Given the description of an element on the screen output the (x, y) to click on. 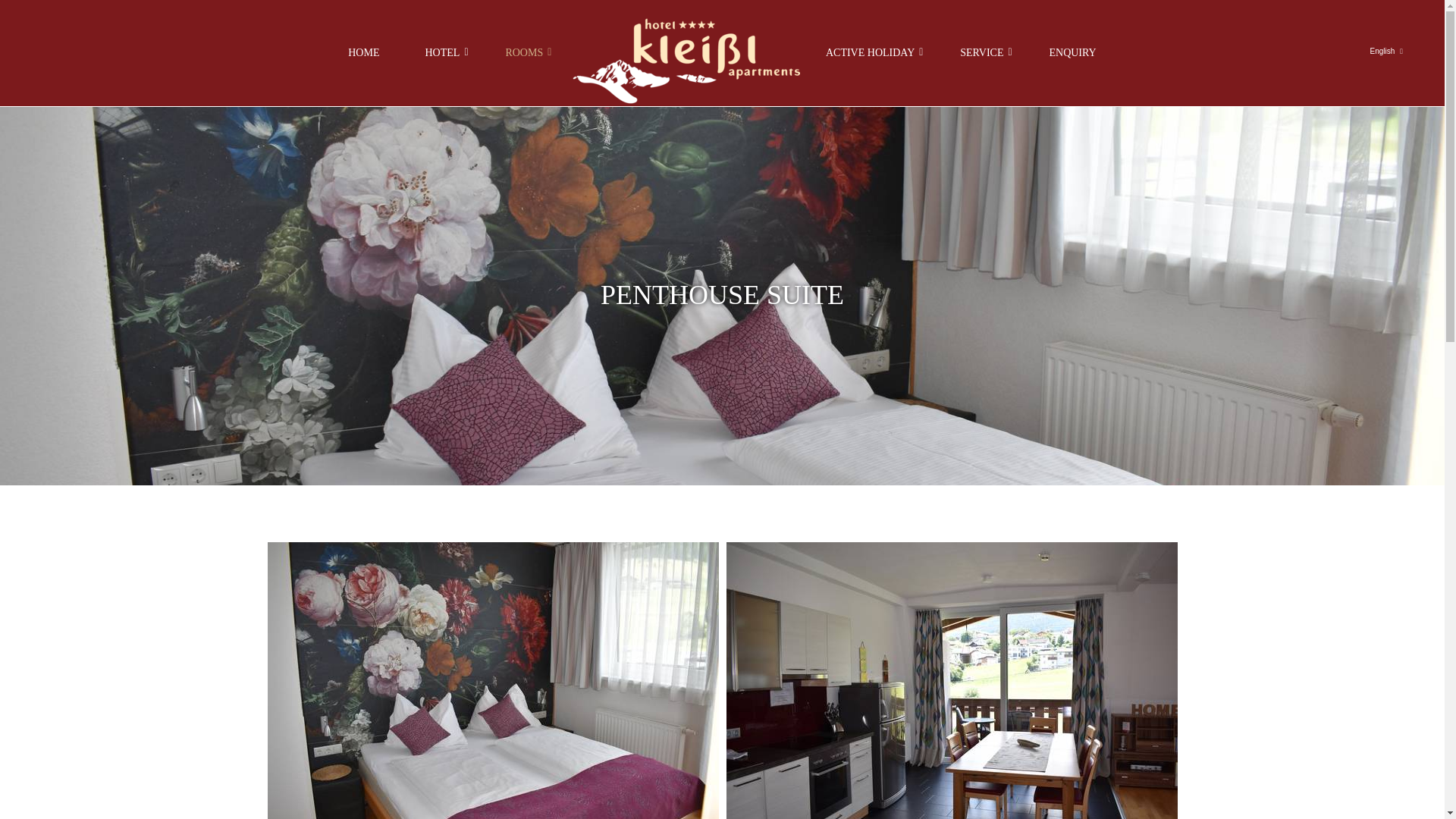
Active Holiday (870, 53)
ACTIVE HOLIDAY (870, 53)
Hotel Oberperfuss Home (684, 60)
